Given the description of an element on the screen output the (x, y) to click on. 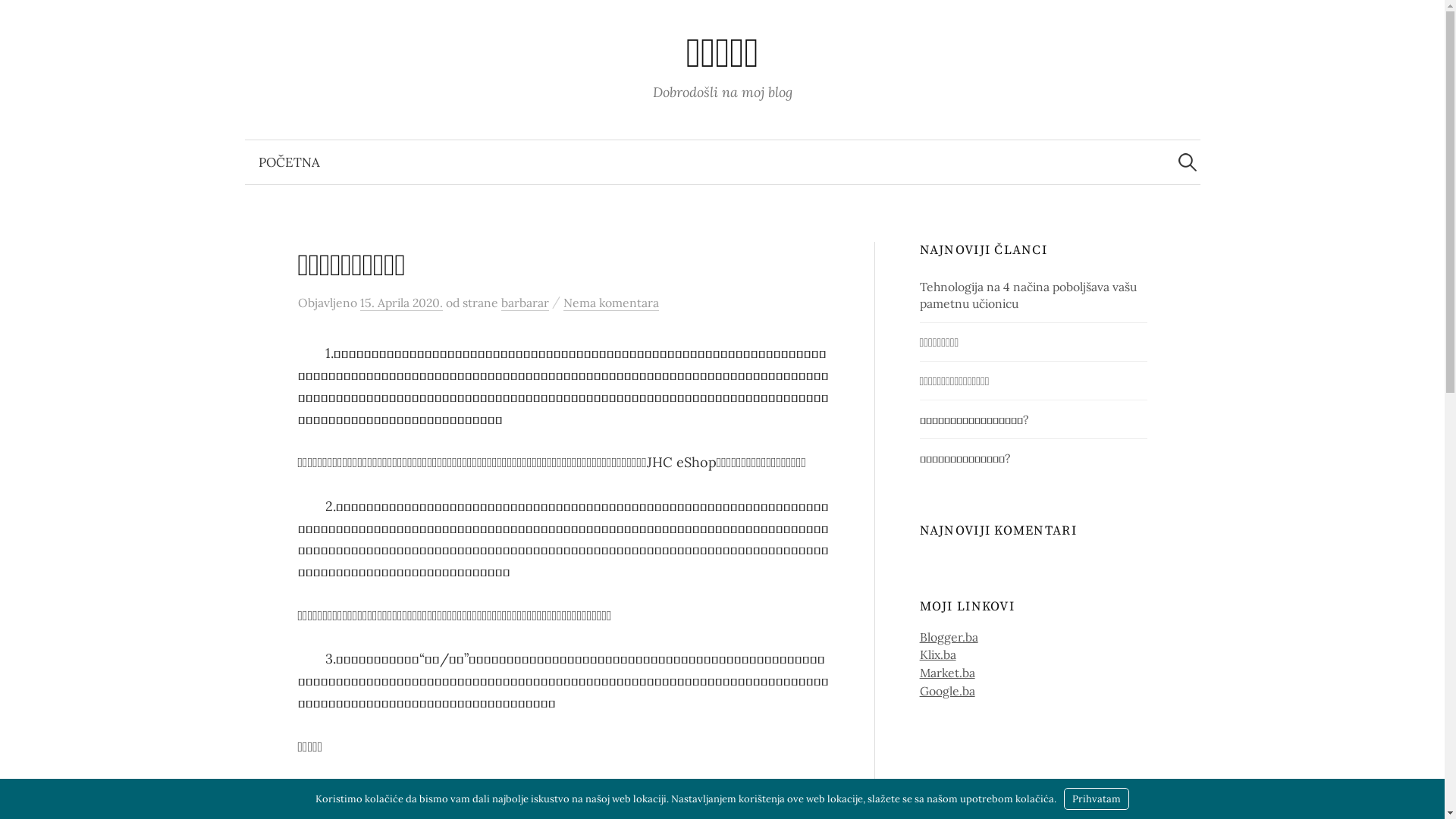
Market.ba Element type: text (947, 672)
Klix.ba Element type: text (937, 654)
Blogger.ba Element type: text (948, 636)
barbarar Element type: text (524, 302)
Prihvatam Element type: text (1096, 798)
15. Aprila 2020. Element type: text (400, 302)
Google.ba Element type: text (947, 690)
Pretraga Element type: text (18, 18)
